Given the description of an element on the screen output the (x, y) to click on. 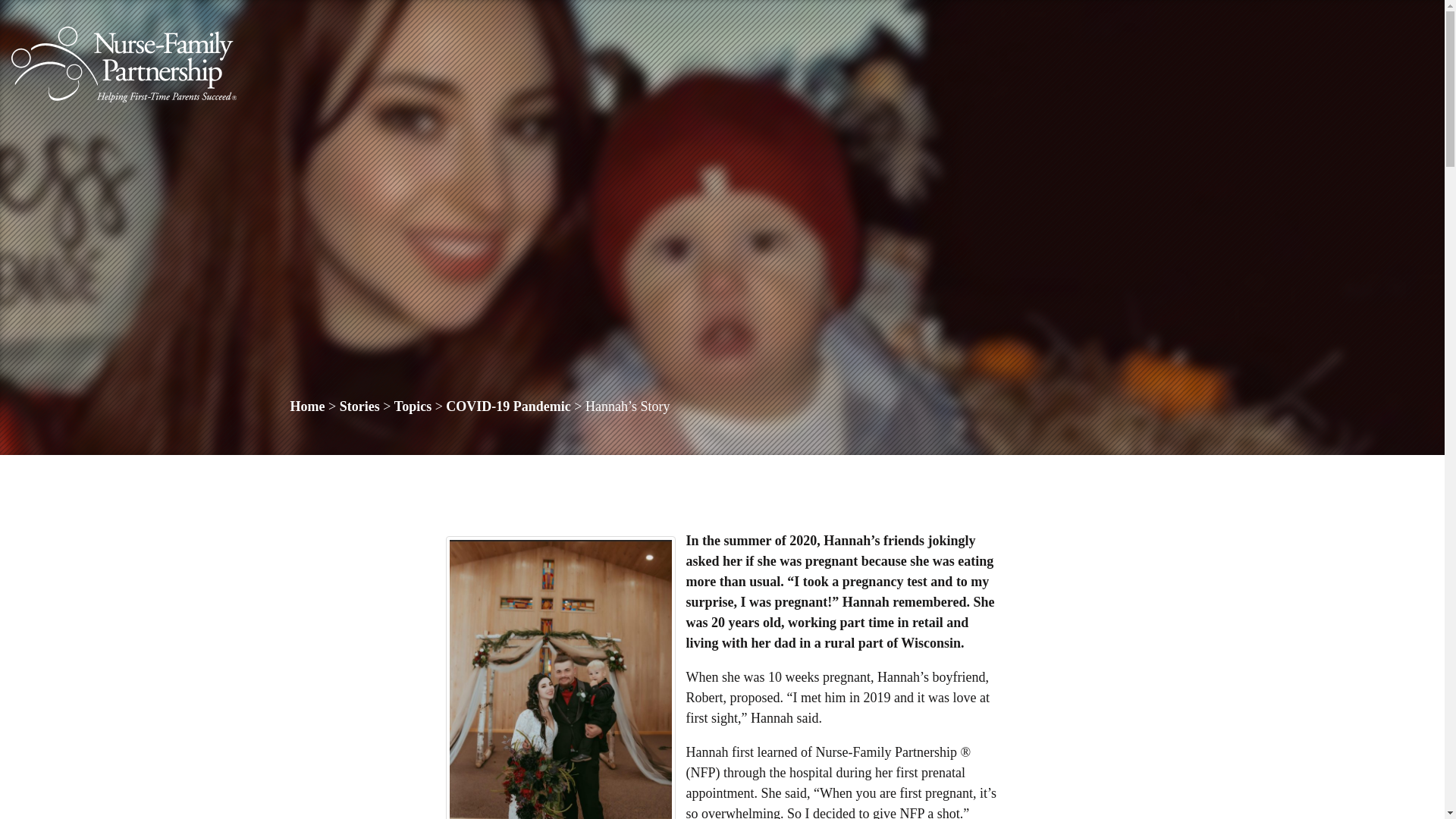
Go to Nurse-Family Partnership. (306, 406)
Go to the COVID-19 Pandemic Categories archives. (507, 406)
Go to the Topics Categories archives. (412, 406)
Go to Stories. (359, 406)
